Given the description of an element on the screen output the (x, y) to click on. 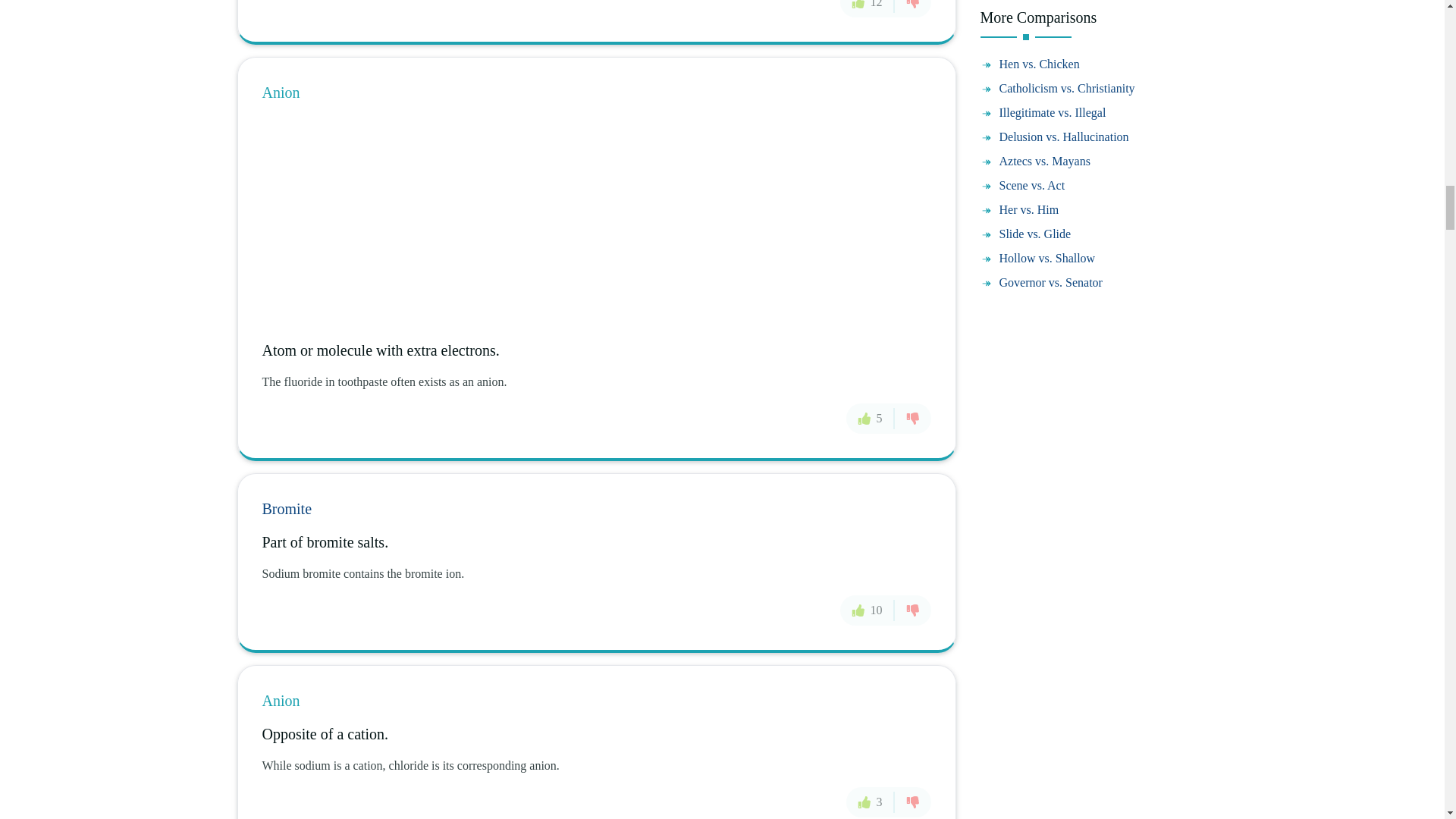
12 (867, 8)
5 (870, 418)
